Given the description of an element on the screen output the (x, y) to click on. 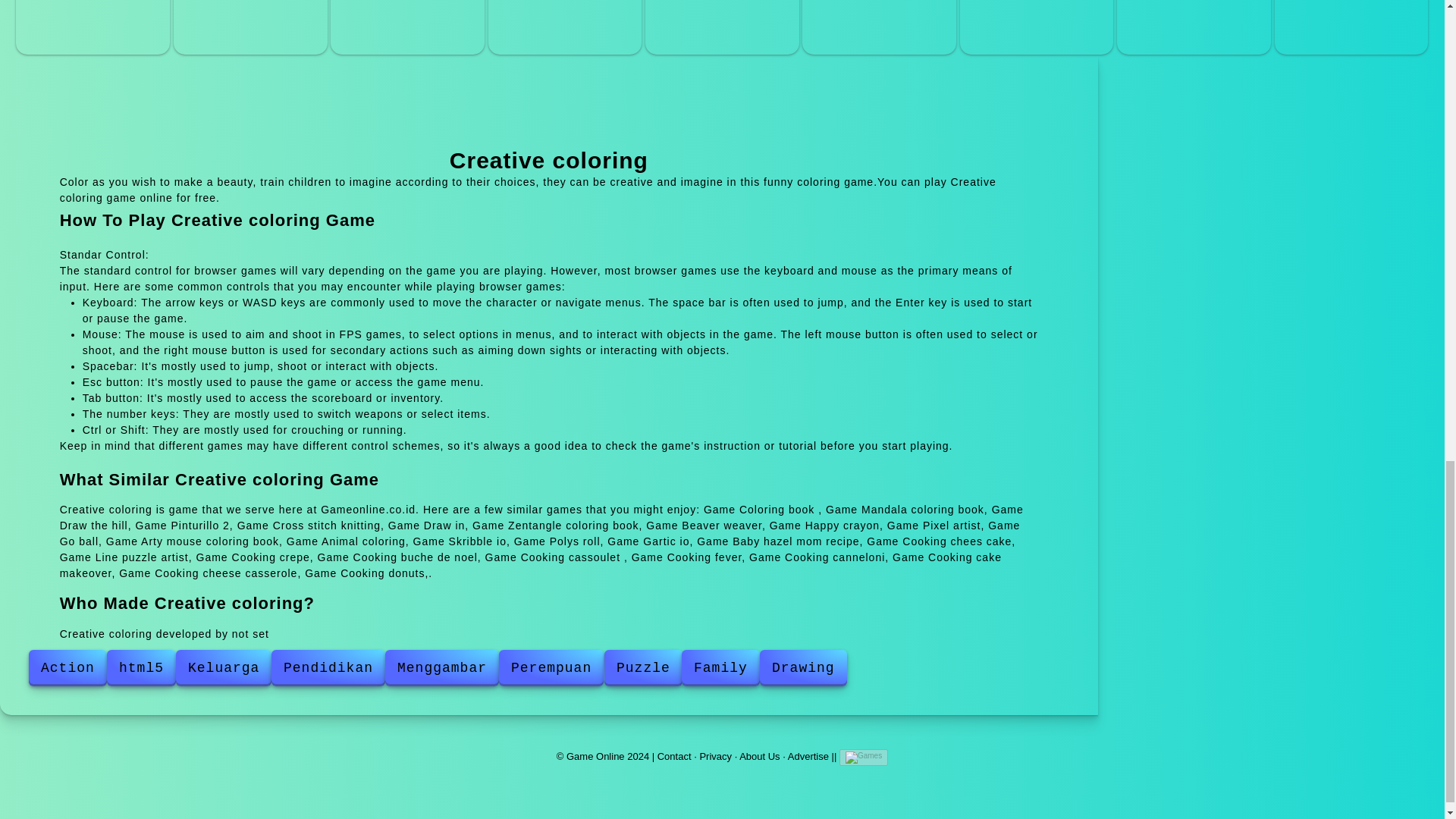
Family (720, 668)
Drawing (803, 668)
Perempuan (551, 668)
Keluarga (223, 668)
Action (67, 668)
Puzzle (643, 668)
html5 (141, 668)
Pendidikan (327, 668)
Menggambar (442, 668)
